Given the description of an element on the screen output the (x, y) to click on. 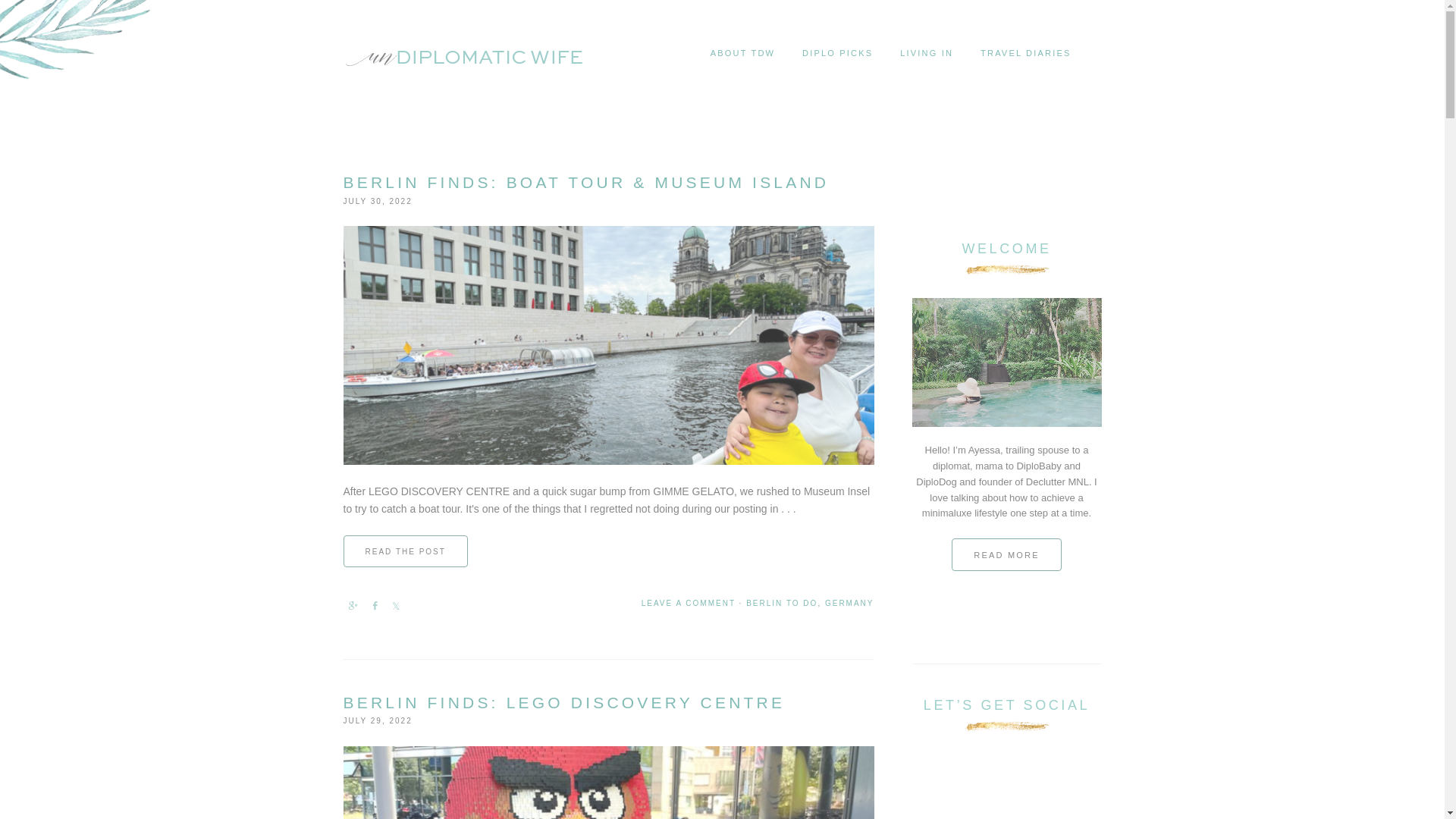
diplo-picks (837, 53)
